Given the description of an element on the screen output the (x, y) to click on. 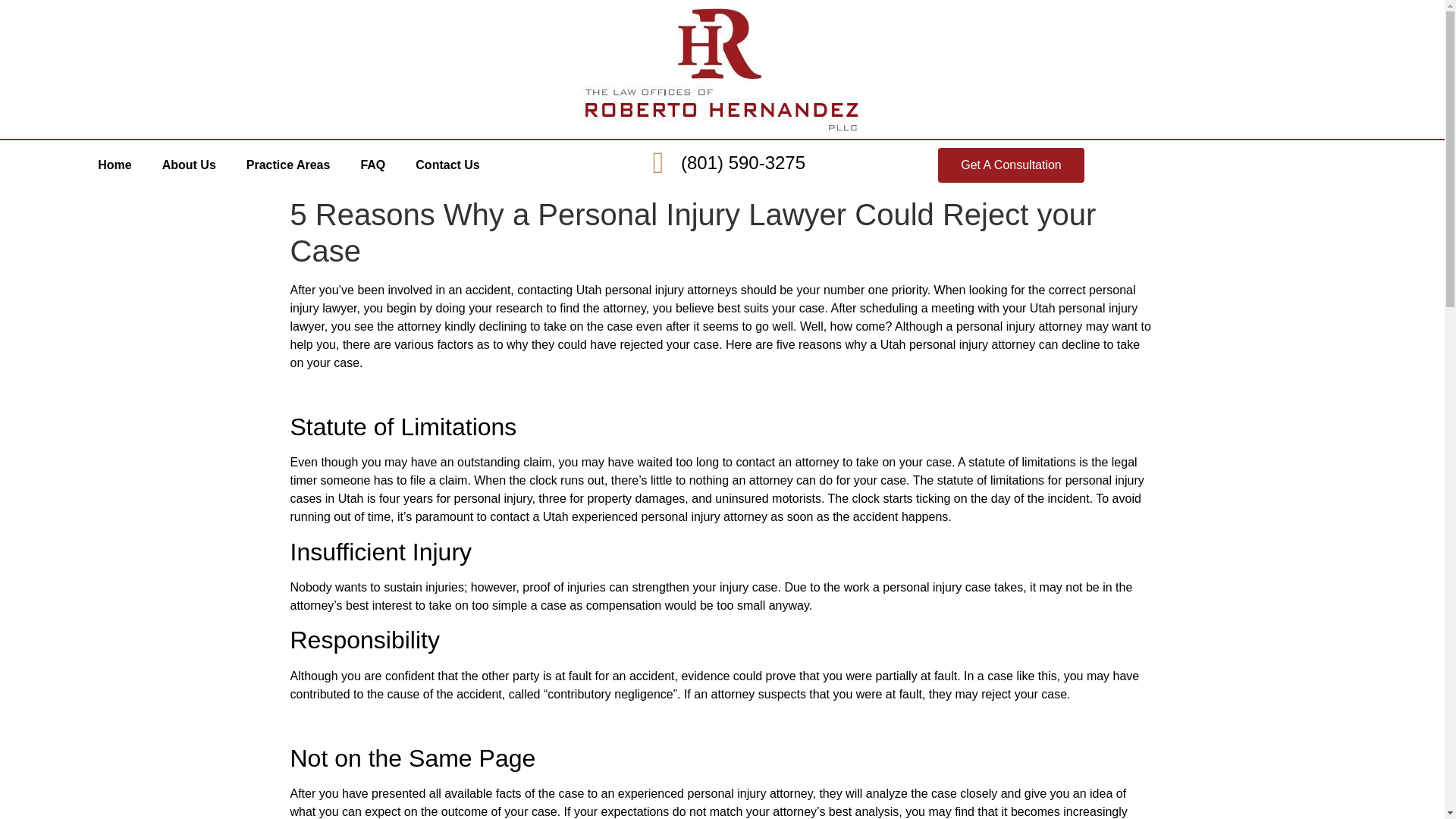
Contact Us (447, 165)
FAQ (372, 165)
Get A Consultation (1010, 165)
About Us (189, 165)
Practice Areas (288, 165)
Home (114, 165)
